Given the description of an element on the screen output the (x, y) to click on. 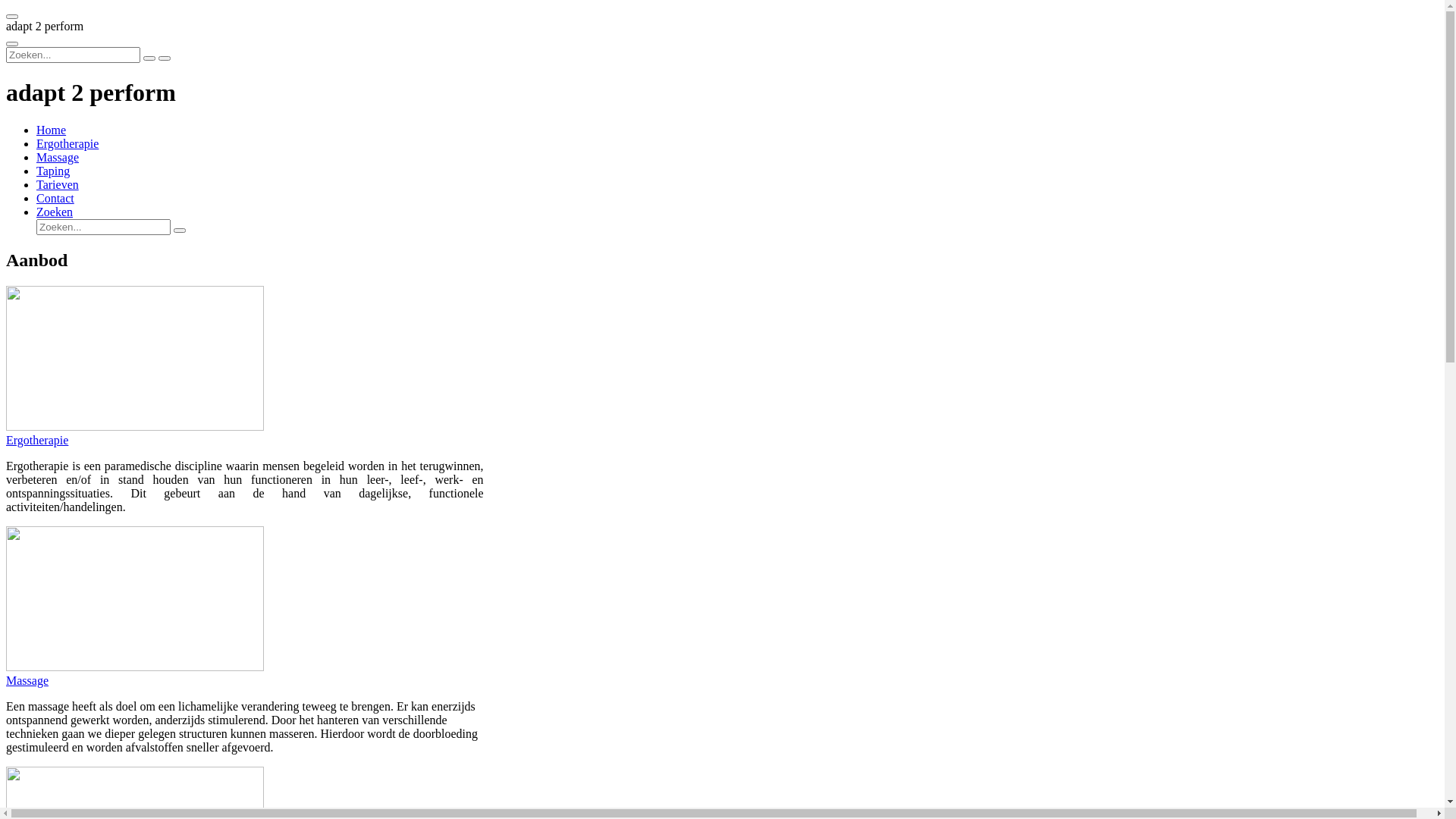
Taping Element type: text (52, 170)
Tarieven Element type: text (57, 184)
Ergotherapie Element type: text (67, 143)
Home Element type: text (50, 129)
Contact Element type: text (55, 197)
Zoeken Element type: text (54, 211)
Ergotherapie Element type: text (244, 440)
Massage Element type: text (57, 156)
Massage Element type: text (244, 680)
